Given the description of an element on the screen output the (x, y) to click on. 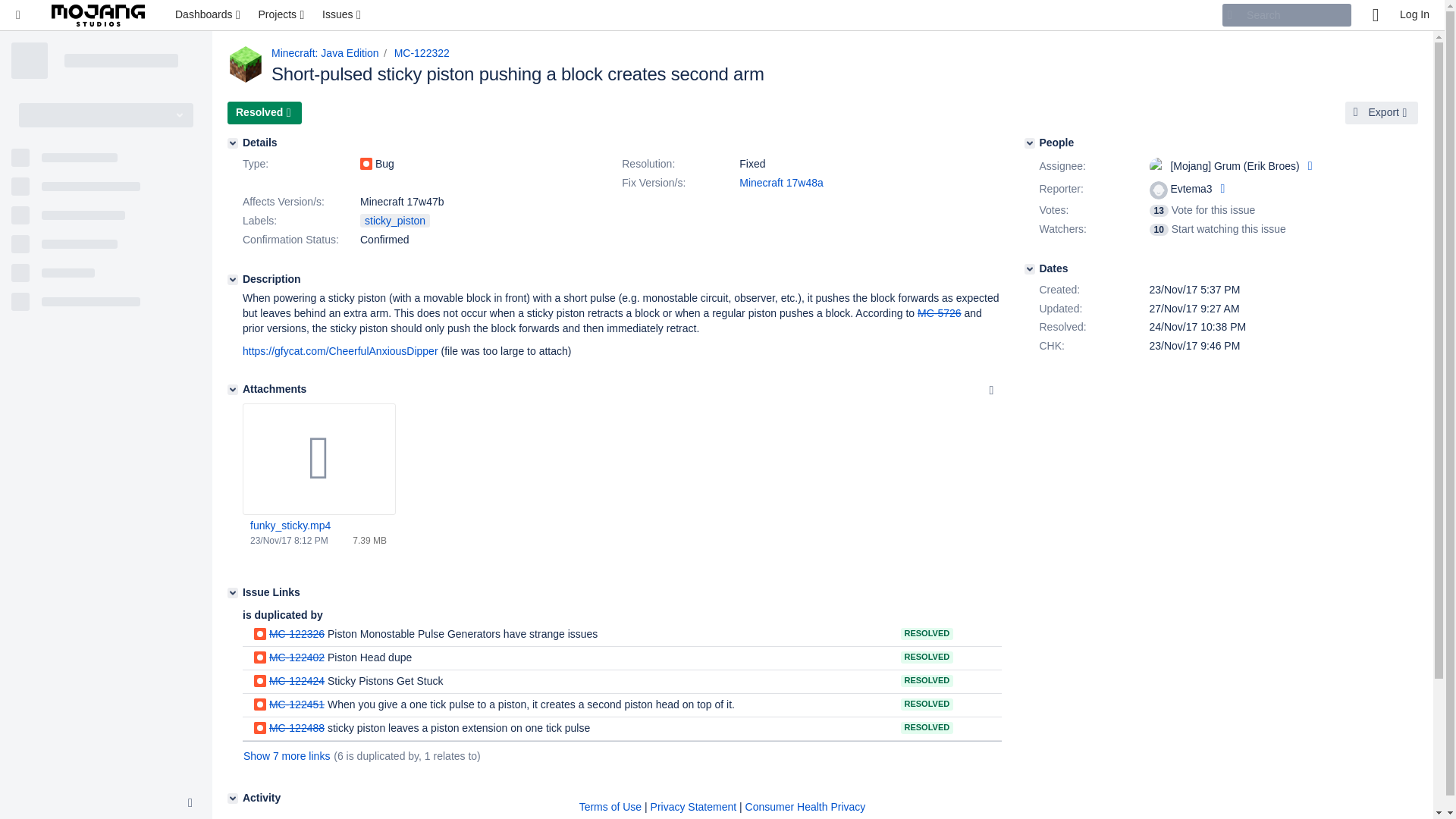
Details (232, 143)
Attachments (232, 389)
Dashboards (208, 15)
Linked Applications (18, 15)
MC-122322 (421, 52)
Issues (342, 15)
Export this issue in another format (1381, 112)
Minecraft 17w47b  (401, 201)
View recent projects and browse a list of projects (282, 15)
Help (1374, 15)
Privacy Statement (693, 806)
Resolved (264, 112)
Consumer Health Privacy (805, 806)
Help (1374, 15)
MC-5726 (938, 313)
